Given the description of an element on the screen output the (x, y) to click on. 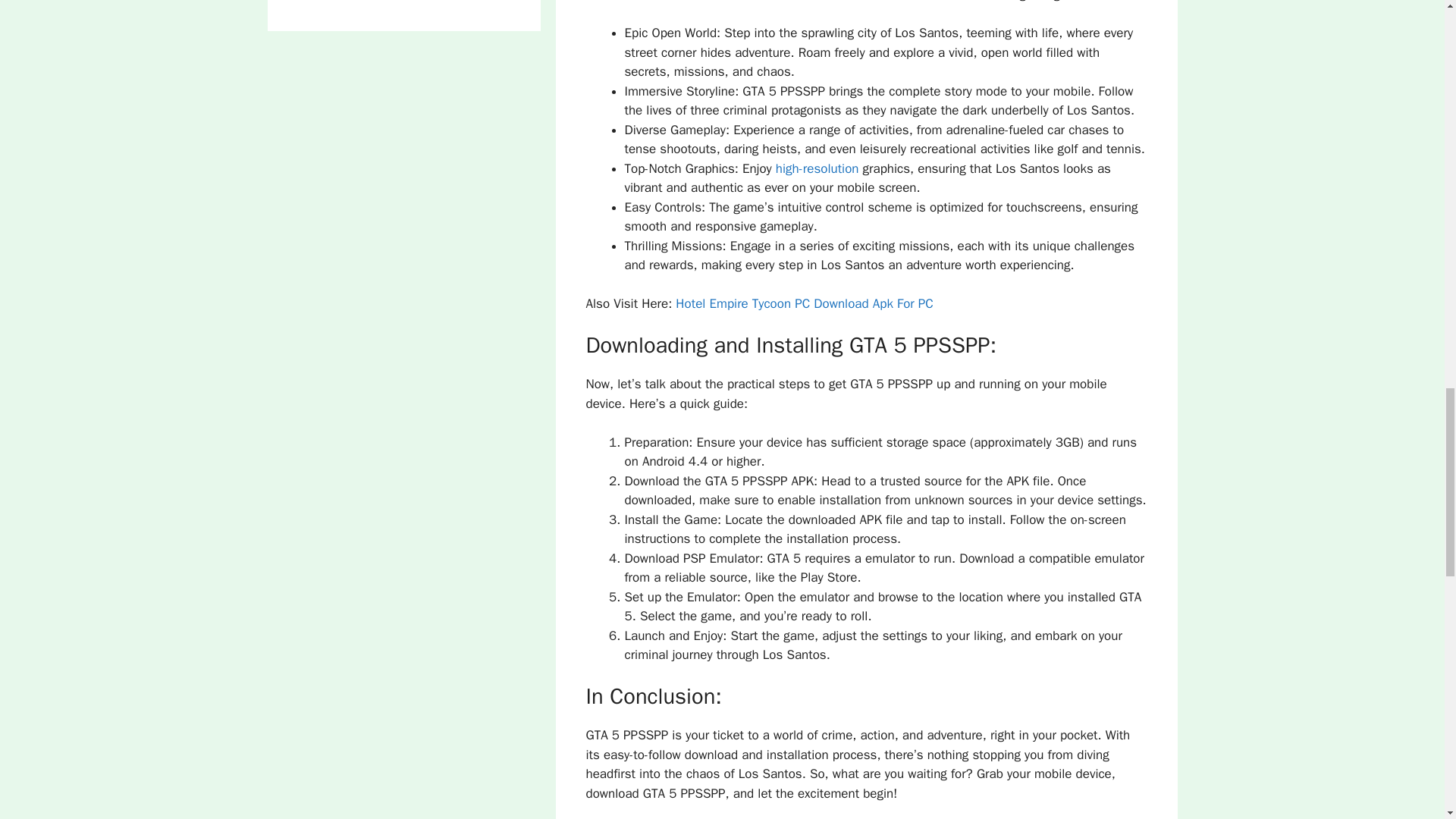
Hotel Empire Tycoon PC Download Apk For PC (804, 303)
high-resolution (817, 168)
